Given the description of an element on the screen output the (x, y) to click on. 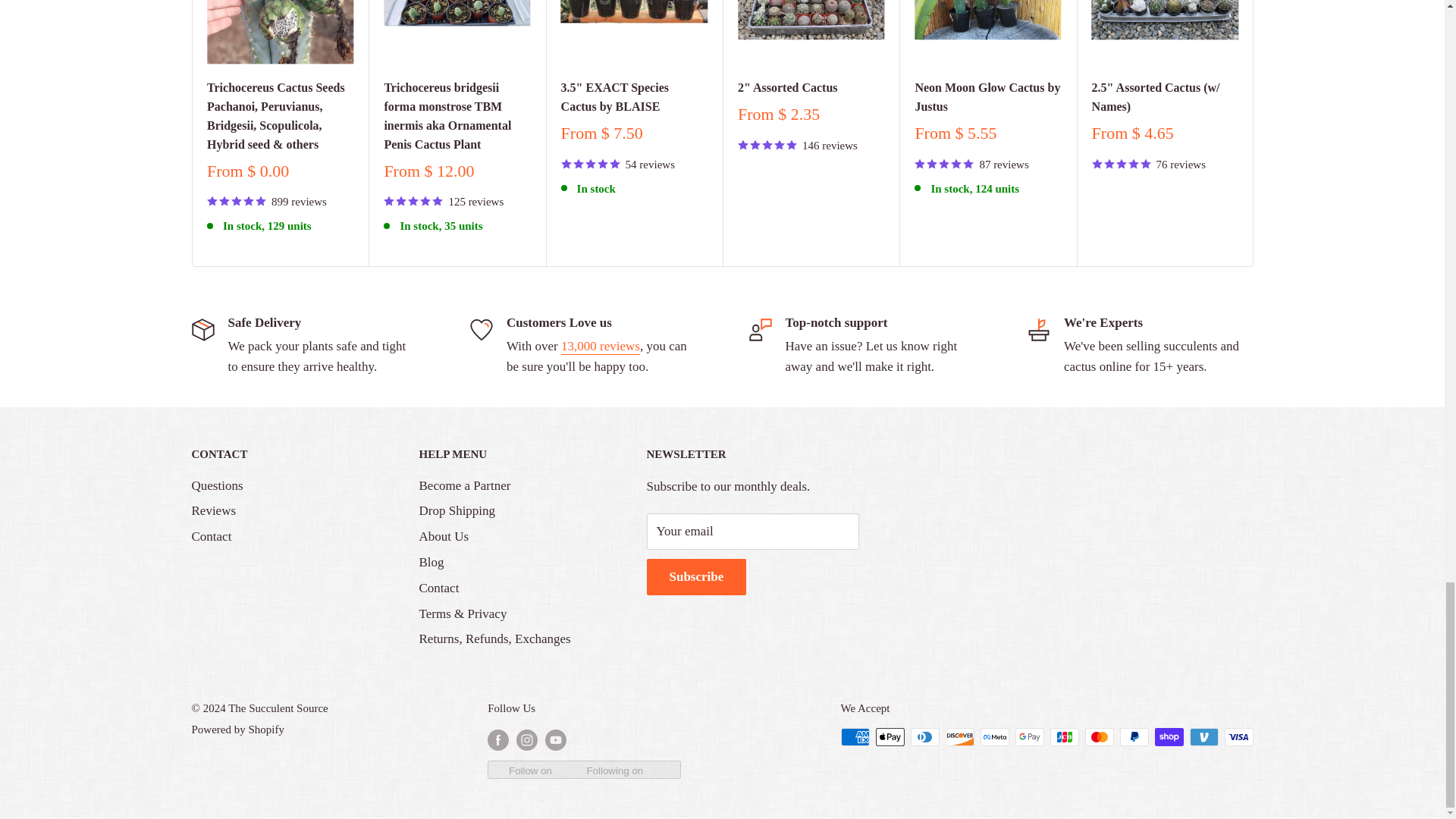
Reviews (600, 345)
